Given the description of an element on the screen output the (x, y) to click on. 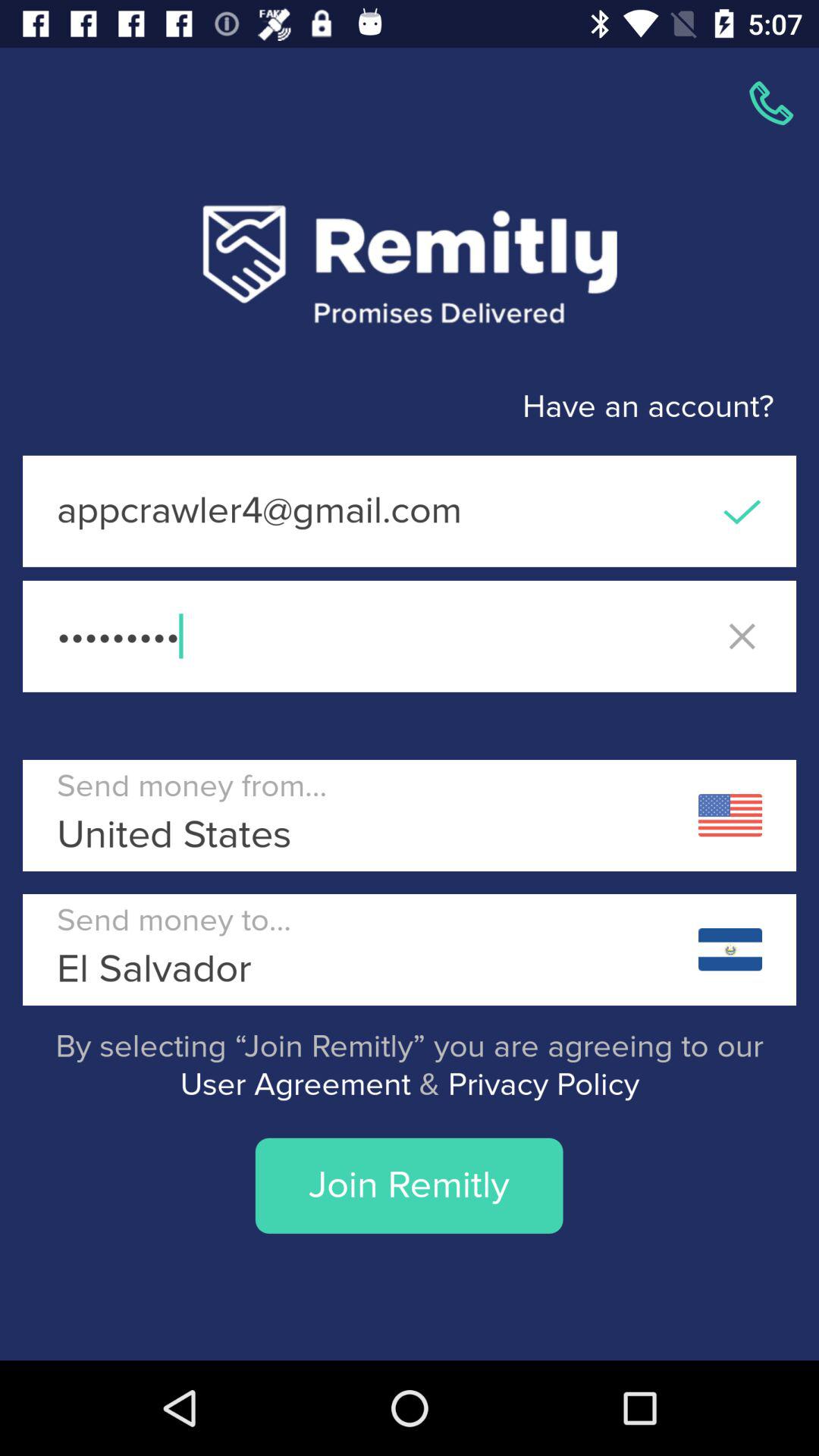
tap the icon above crowd3116 icon (409, 511)
